Given the description of an element on the screen output the (x, y) to click on. 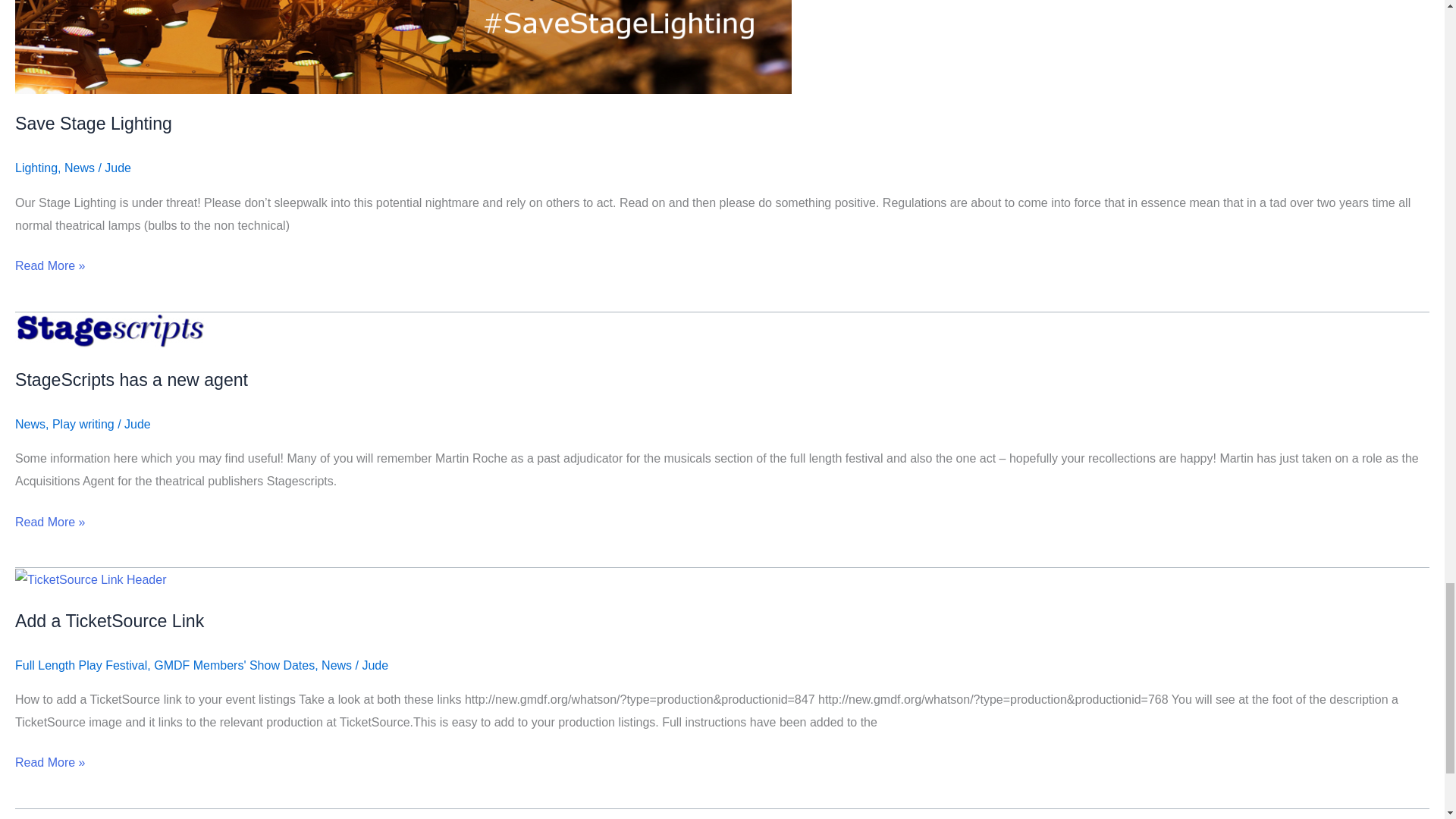
View all posts by Jude (117, 167)
View all posts by Jude (137, 423)
View all posts by Jude (374, 665)
